Given the description of an element on the screen output the (x, y) to click on. 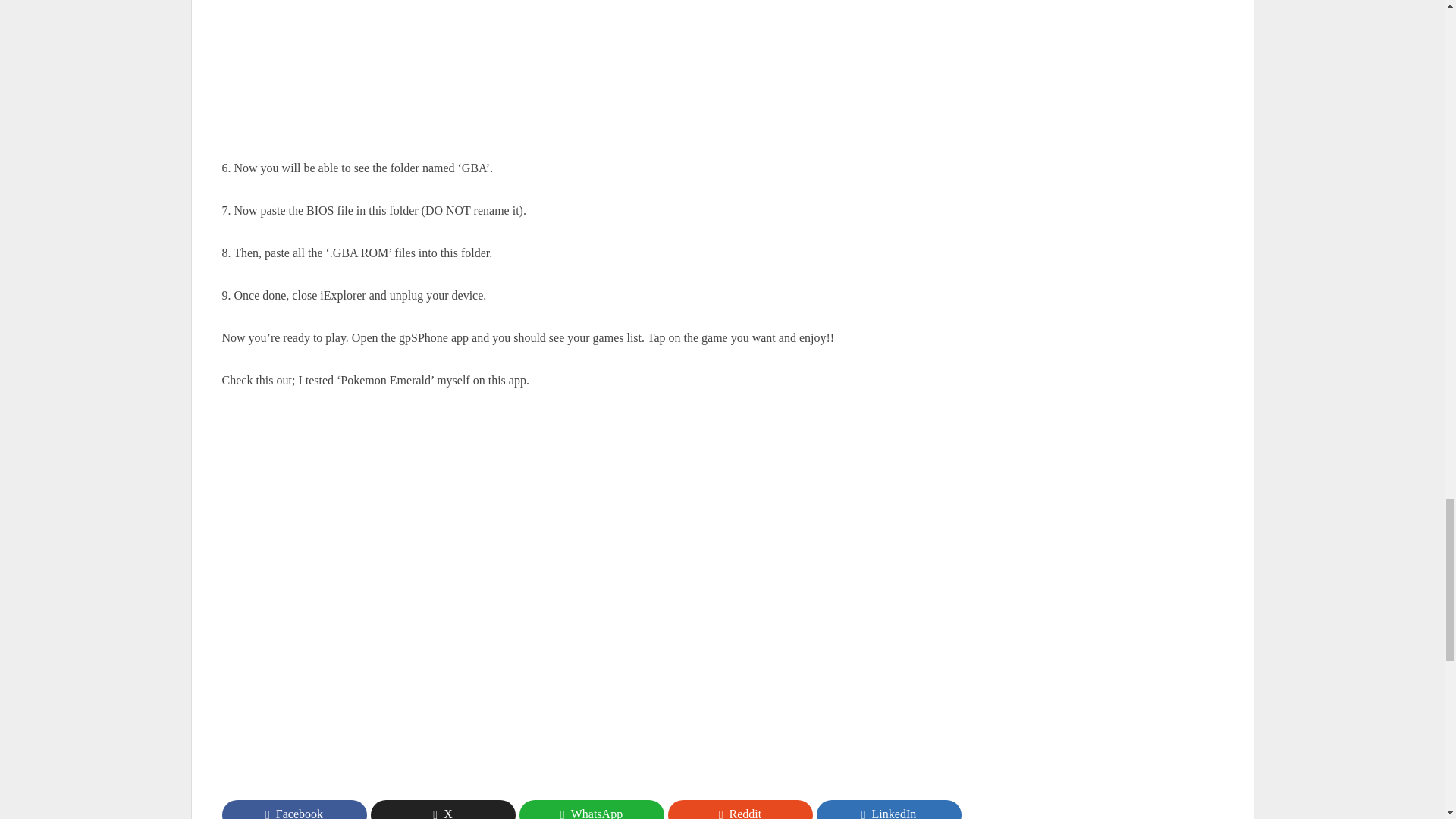
X (442, 809)
Facebook (293, 809)
LinkedIn (887, 809)
WhatsApp (590, 809)
Reddit (739, 809)
